Given the description of an element on the screen output the (x, y) to click on. 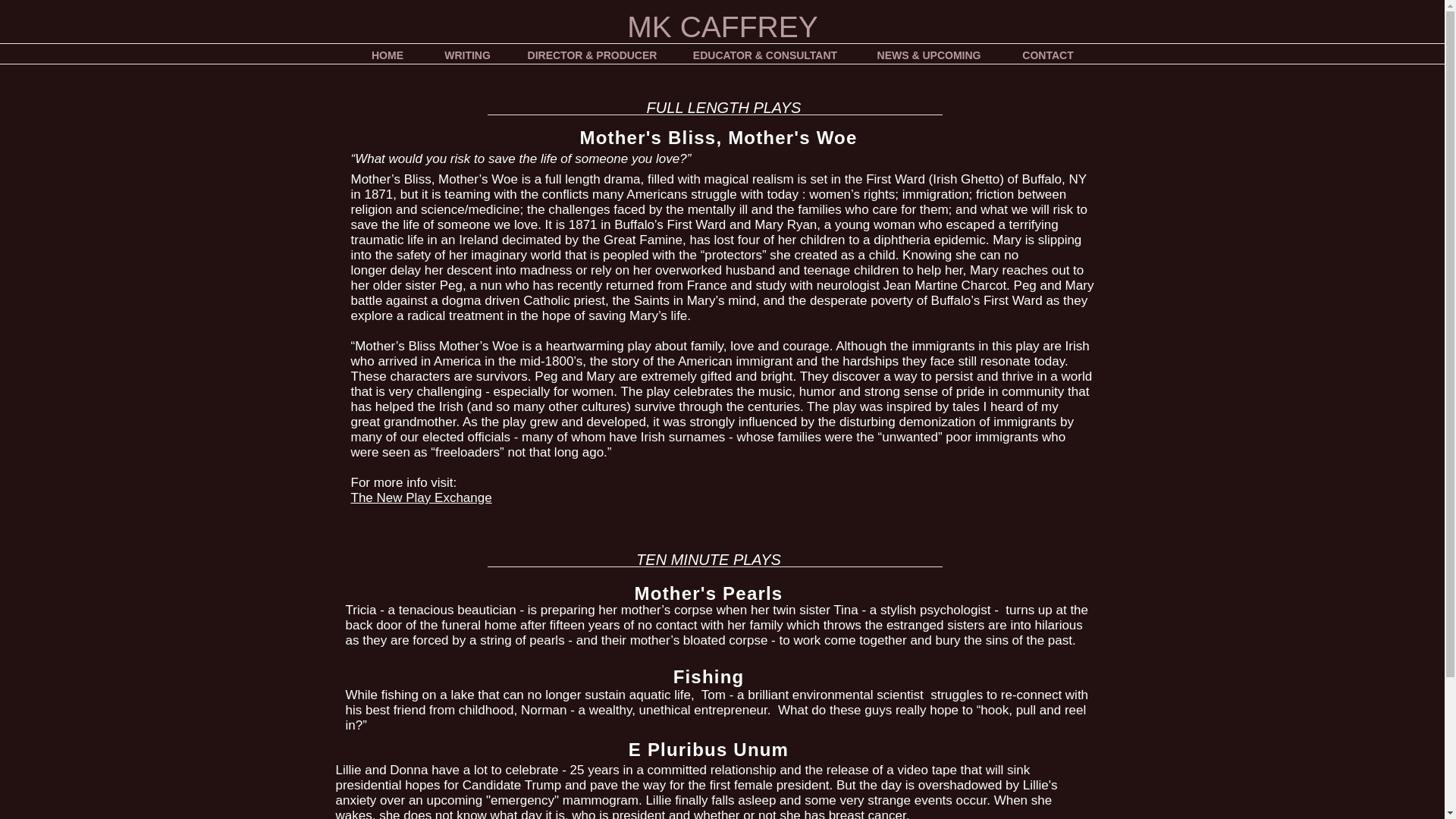
WRITING (468, 55)
CONTACT (1047, 55)
MK CAFFREY (721, 26)
The New Play Exchange (421, 497)
HOME (386, 55)
